Given the description of an element on the screen output the (x, y) to click on. 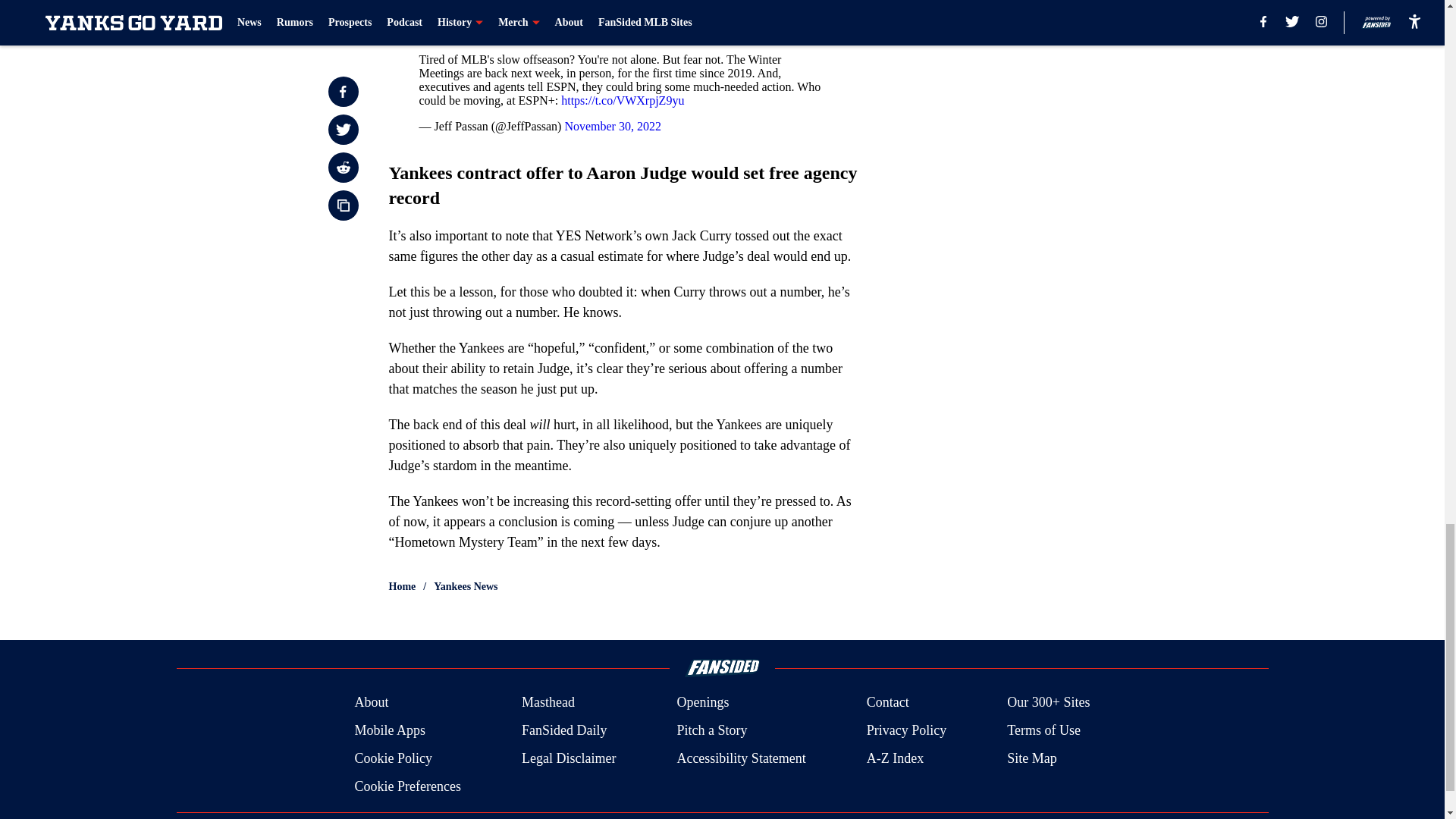
Masthead (548, 702)
About (370, 702)
Home (401, 586)
Contact (887, 702)
FanSided Daily (564, 730)
Mobile Apps (389, 730)
Openings (703, 702)
Pitch a Story (711, 730)
Yankees News (465, 586)
Privacy Policy (906, 730)
November 30, 2022 (612, 125)
